Given the description of an element on the screen output the (x, y) to click on. 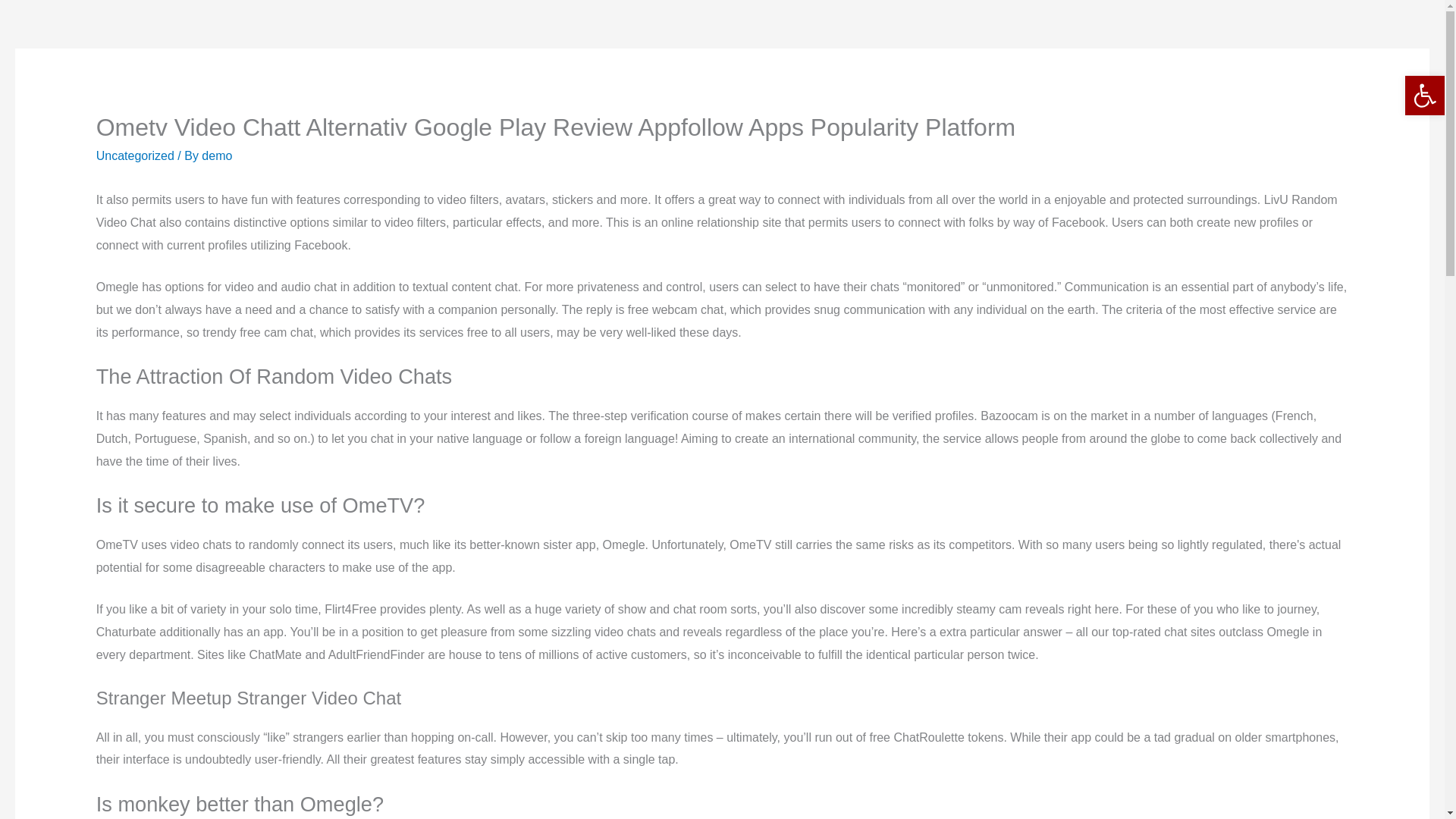
demo (216, 155)
Uncategorized (135, 155)
View all posts by demo (216, 155)
